Given the description of an element on the screen output the (x, y) to click on. 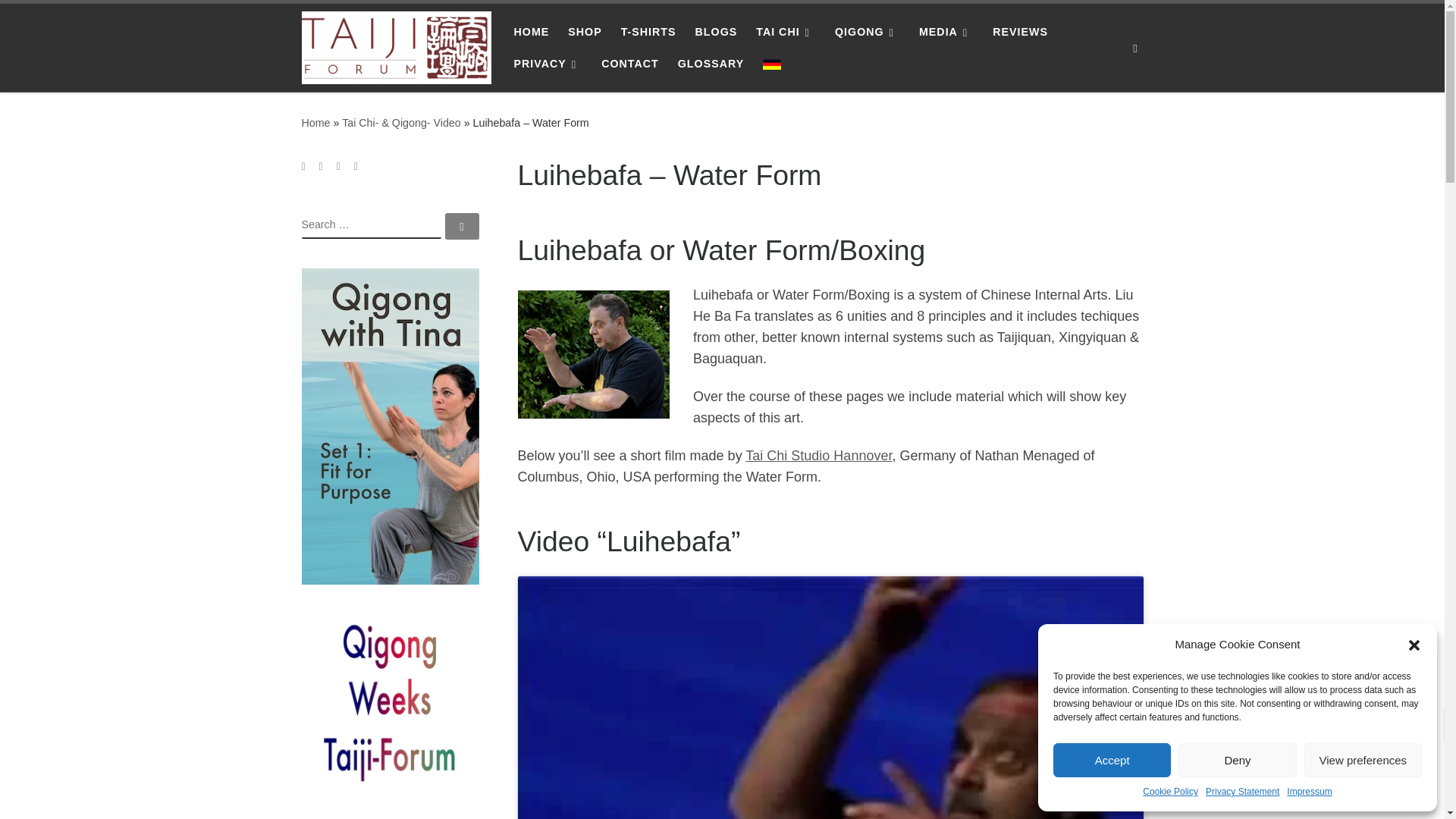
T-SHIRTS (647, 31)
Skip to content (60, 20)
View preferences (1363, 759)
Accept (1111, 759)
Deny (1236, 759)
Cookie Policy (1170, 792)
HOME (530, 31)
SHOP (585, 31)
Impressum (1309, 792)
BLOGS (715, 31)
